Given the description of an element on the screen output the (x, y) to click on. 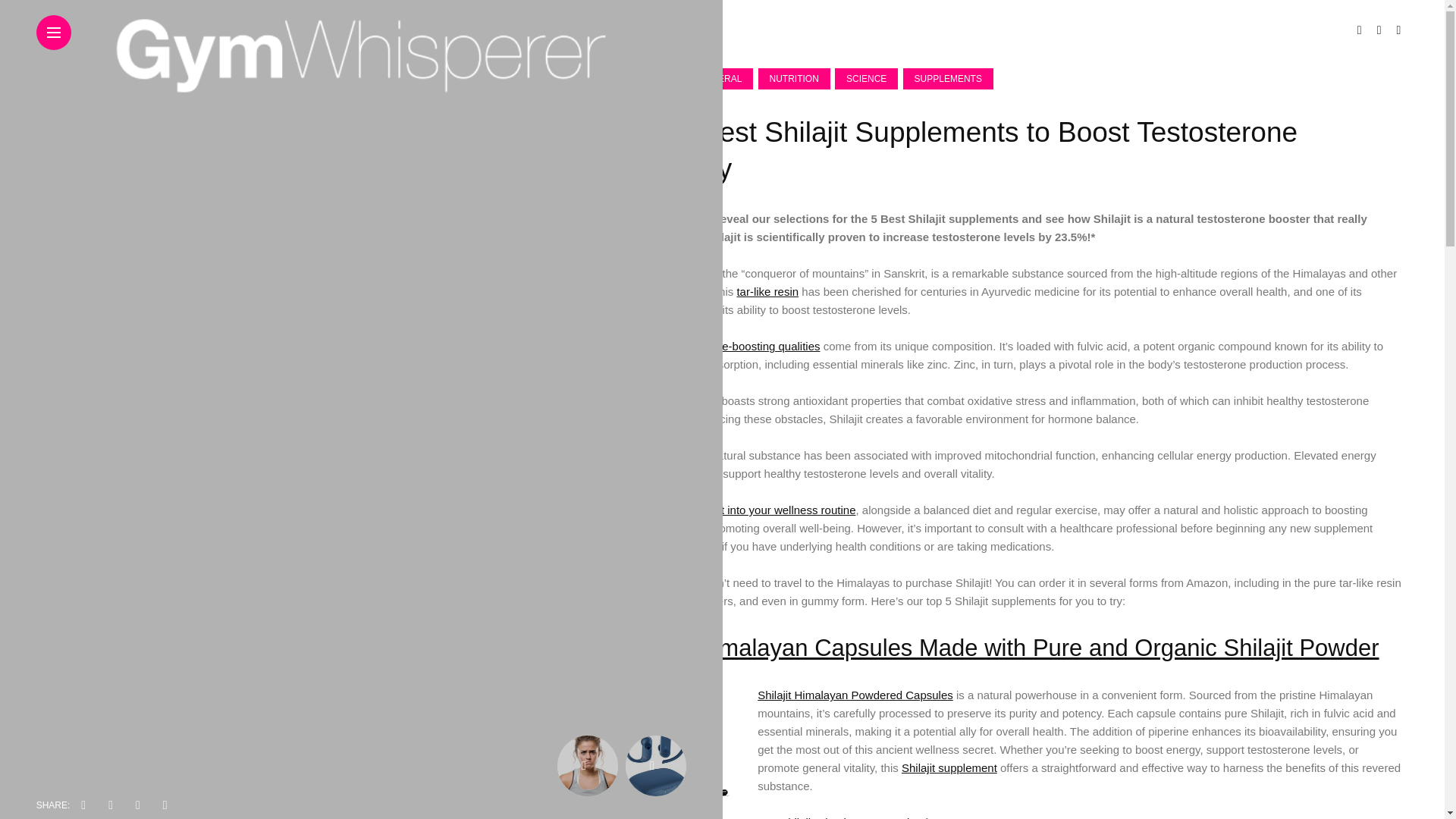
Shilajit supplement (949, 767)
NUTRITION (793, 78)
SCIENCE (866, 78)
GENERAL (719, 78)
FITNESS (651, 78)
SUPPLEMENTS (947, 78)
Shilajit Himalayan Powdered Capsules (855, 694)
Buy Shilajit Himalayan Capsules (839, 817)
testosterone-boosting qualities (742, 345)
Incorporating Shilajit into your wellness routine (738, 509)
tar-like resin (766, 291)
